Given the description of an element on the screen output the (x, y) to click on. 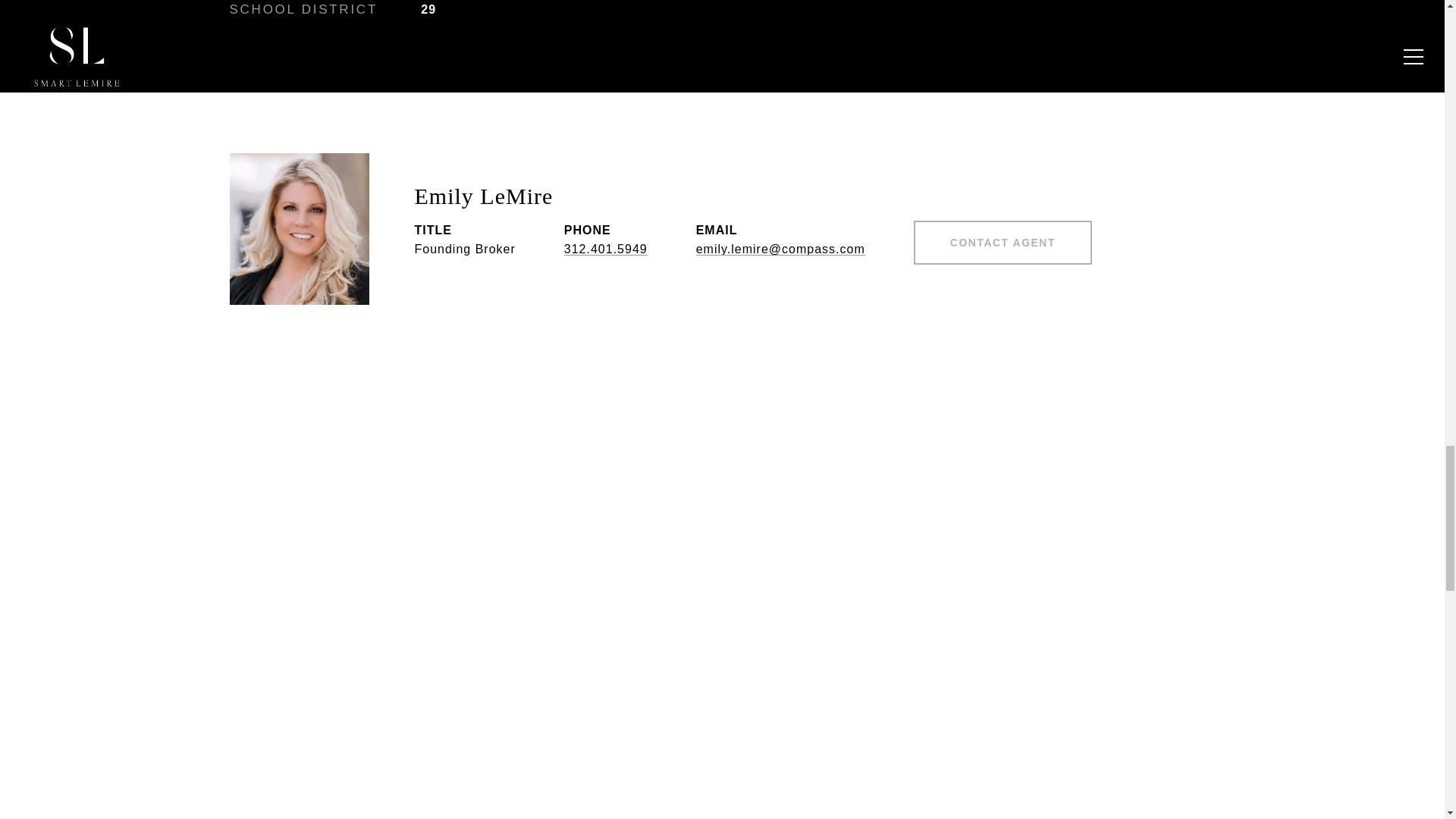
312.401.5949 (605, 248)
CONTACT AGENT (1003, 242)
